Given the description of an element on the screen output the (x, y) to click on. 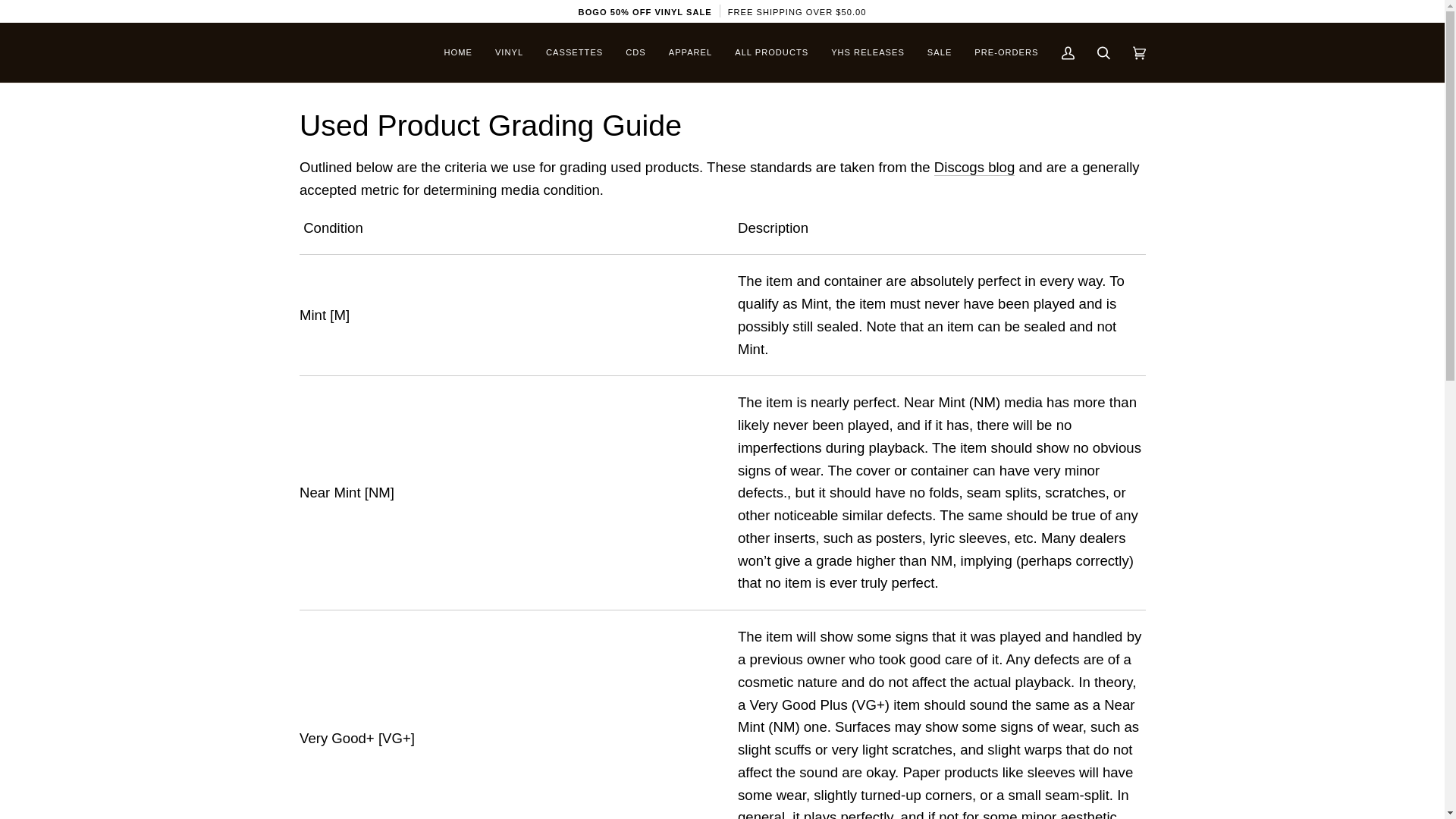
CDS (636, 52)
ALL PRODUCTS (771, 52)
VINYL (508, 52)
HOME (457, 52)
My Account (1066, 52)
SALE (938, 52)
YHS RELEASES (867, 52)
APPAREL (690, 52)
CASSETTES (574, 52)
Search (1103, 52)
PRE-ORDERS (1005, 52)
